Given the description of an element on the screen output the (x, y) to click on. 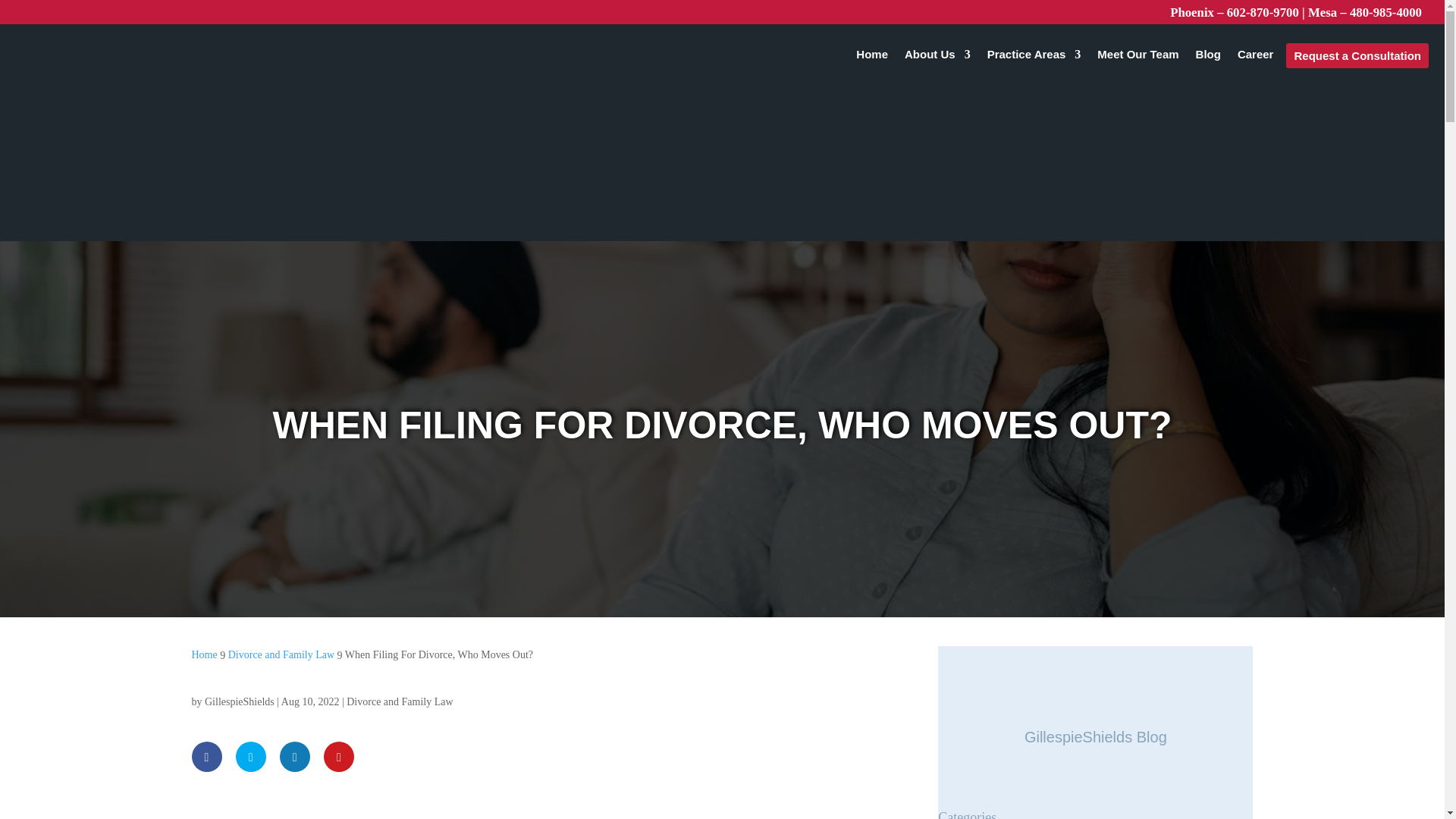
About Us (937, 58)
Home (872, 58)
Divorce and Family Law (399, 701)
Practice Areas (1034, 58)
Meet Our Team (1137, 58)
Request a Consultation (1357, 55)
Home (203, 654)
Divorce and Family Law (281, 654)
GillespieShields (240, 701)
Career (1255, 58)
